Given the description of an element on the screen output the (x, y) to click on. 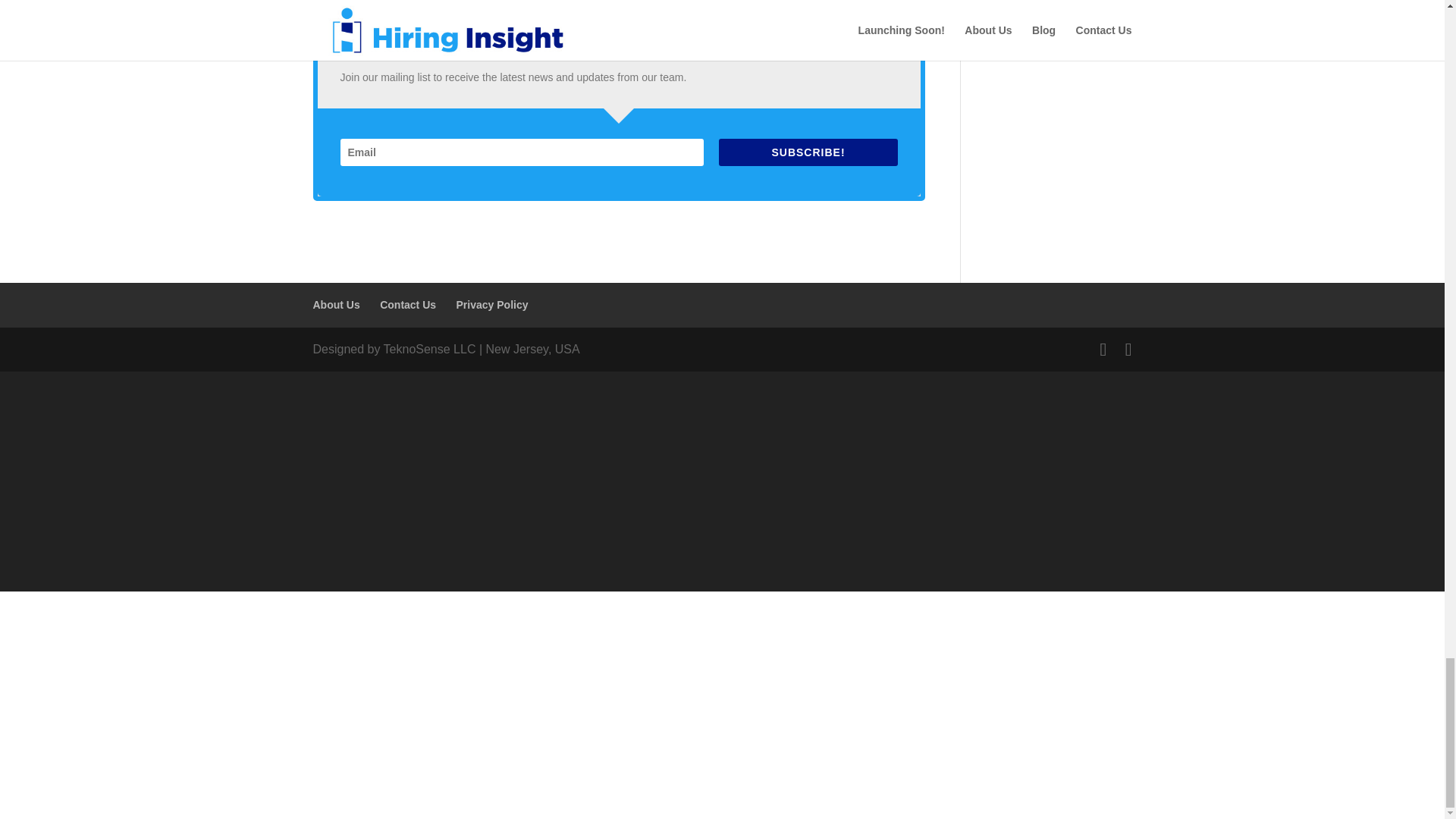
SUBSCRIBE! (807, 152)
Contact Us (407, 304)
About Us (336, 304)
Privacy Policy (492, 304)
